Given the description of an element on the screen output the (x, y) to click on. 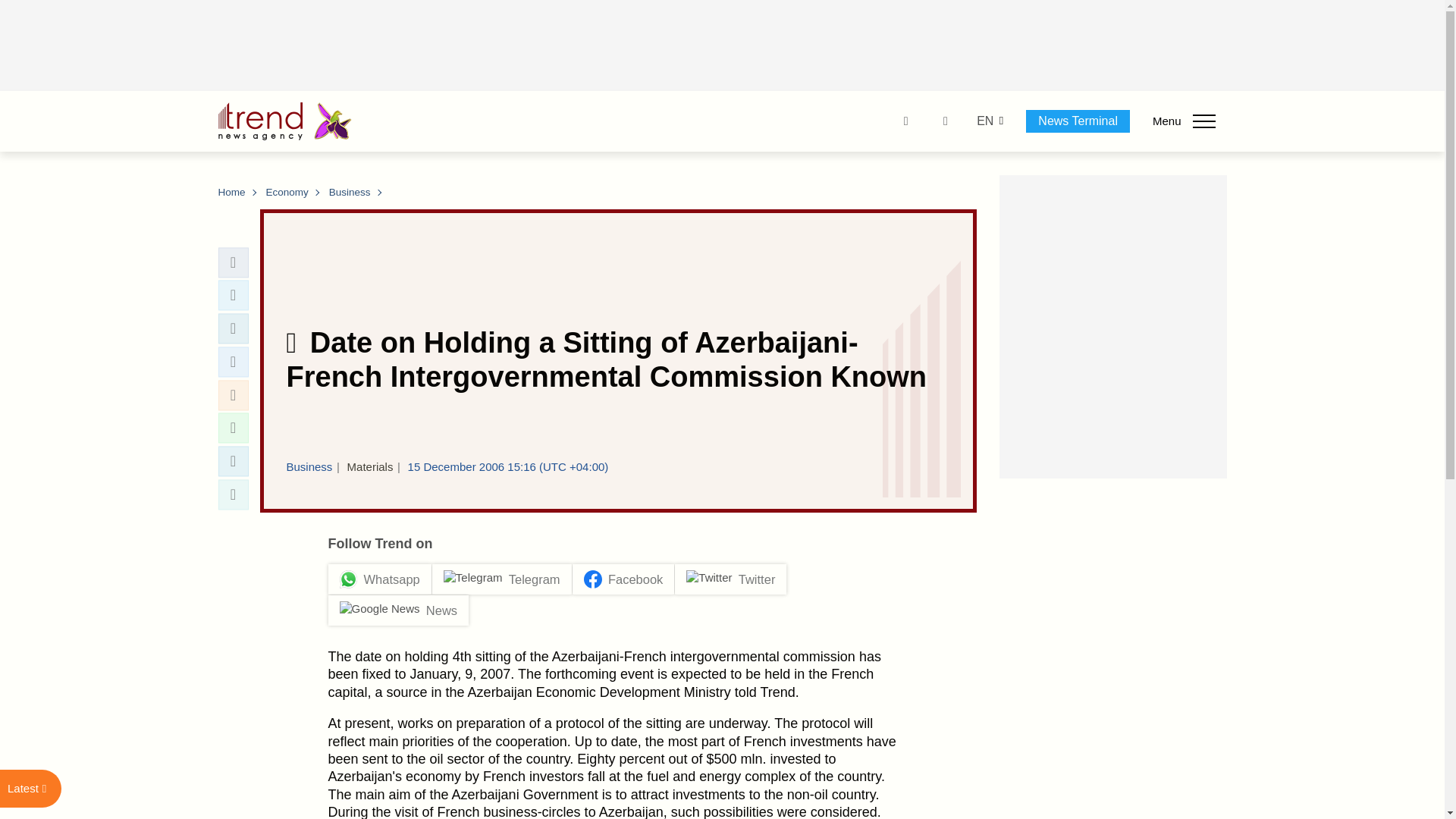
News Terminal (1077, 120)
EN (984, 121)
English (984, 121)
